Given the description of an element on the screen output the (x, y) to click on. 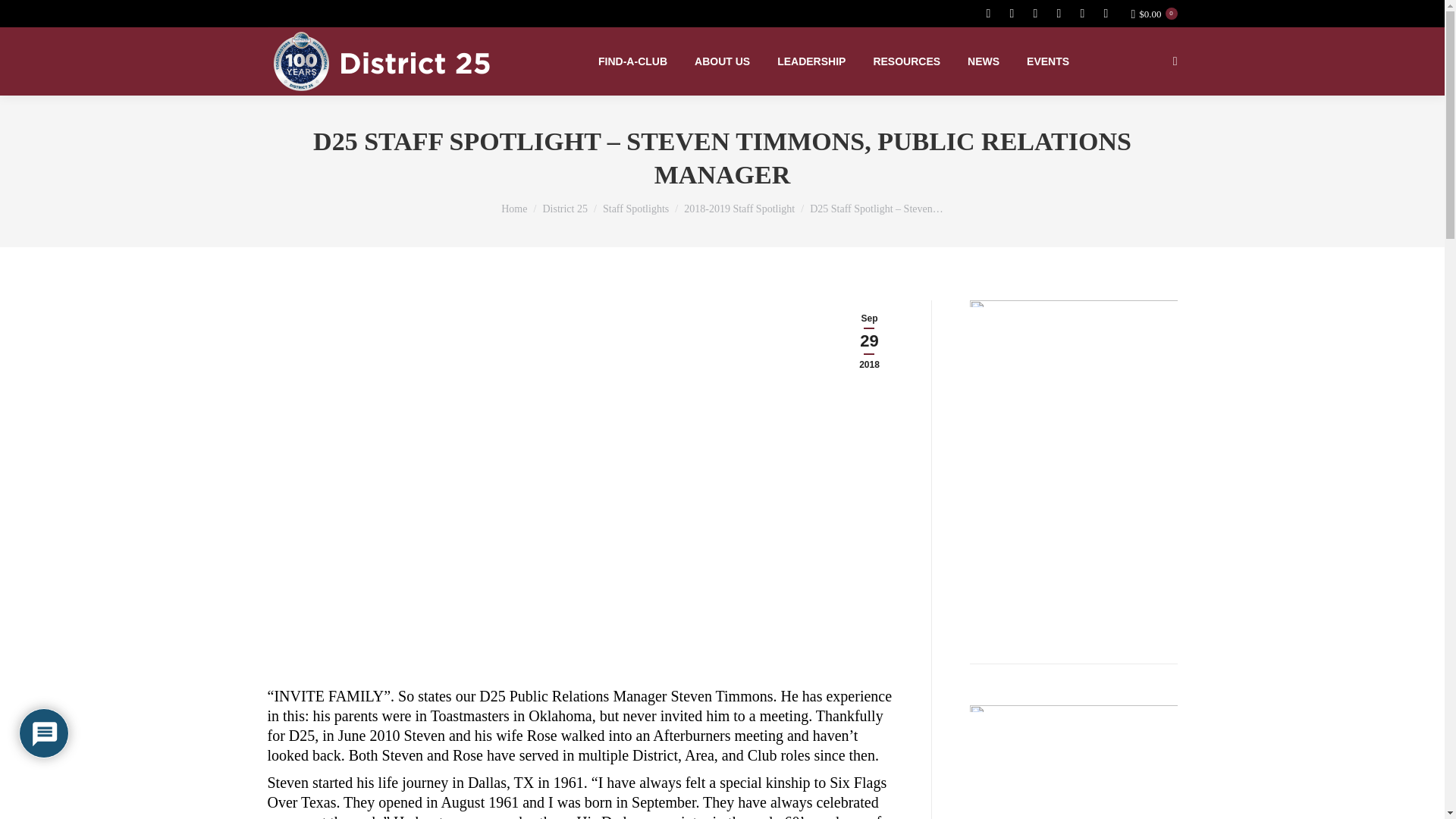
Facebook page opens in new window (987, 13)
Instagram page opens in new window (1081, 13)
Linkedin page opens in new window (1058, 13)
YouTube page opens in new window (1035, 13)
FIND-A-CLUB (632, 60)
NEWS (983, 60)
Reddit page opens in new window (1105, 13)
YouTube page opens in new window (1035, 13)
Linkedin page opens in new window (1058, 13)
Instagram page opens in new window (1081, 13)
Go! (24, 16)
X page opens in new window (1011, 13)
LEADERSHIP (811, 60)
Facebook page opens in new window (987, 13)
RESOURCES (906, 60)
